Given the description of an element on the screen output the (x, y) to click on. 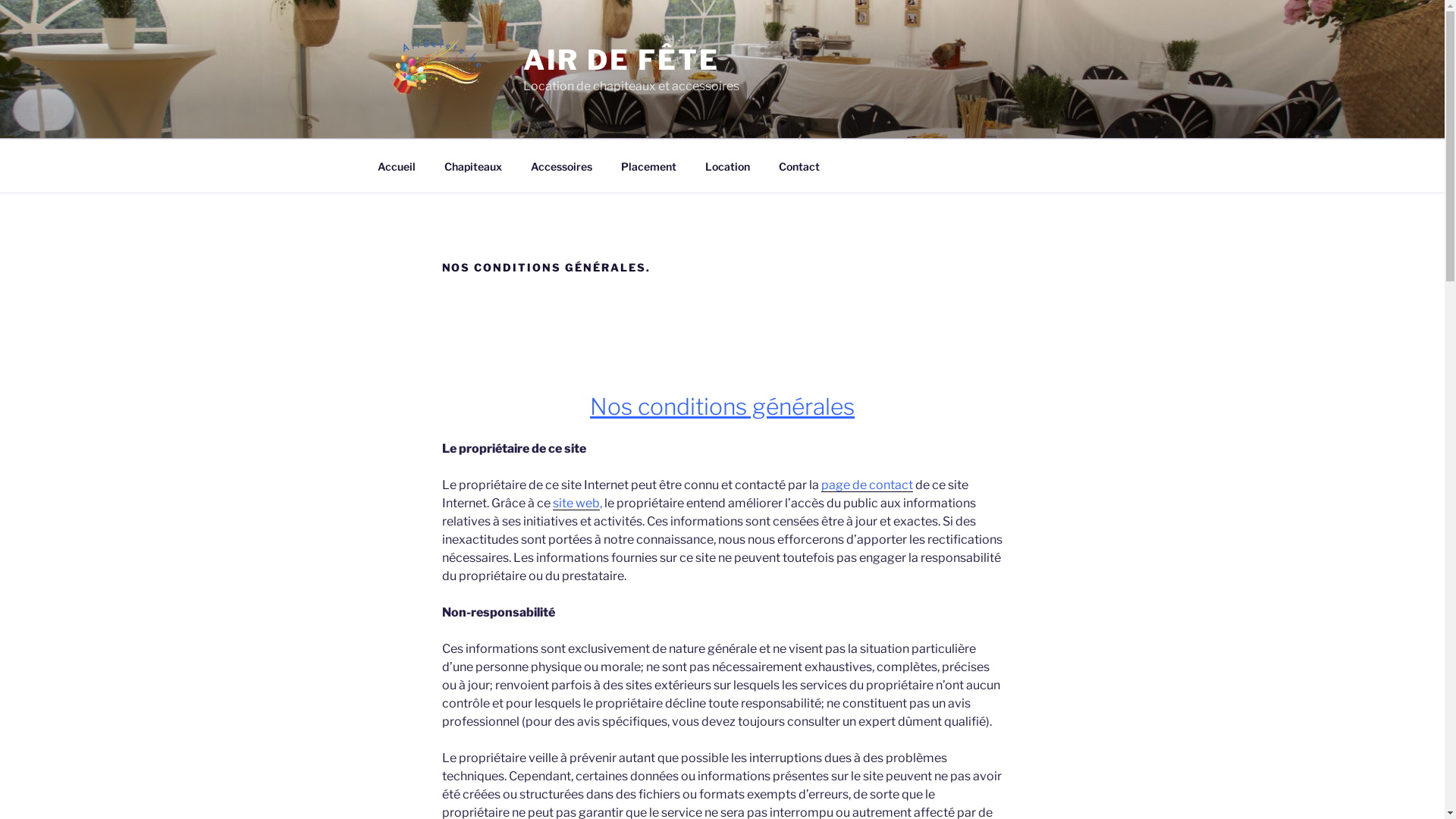
site web Element type: text (575, 502)
page de contact Element type: text (866, 484)
Placement Element type: text (649, 165)
Contact Element type: text (799, 165)
Accessoires Element type: text (561, 165)
Accueil Element type: text (396, 165)
Location Element type: text (726, 165)
Chapiteaux Element type: text (472, 165)
